Given the description of an element on the screen output the (x, y) to click on. 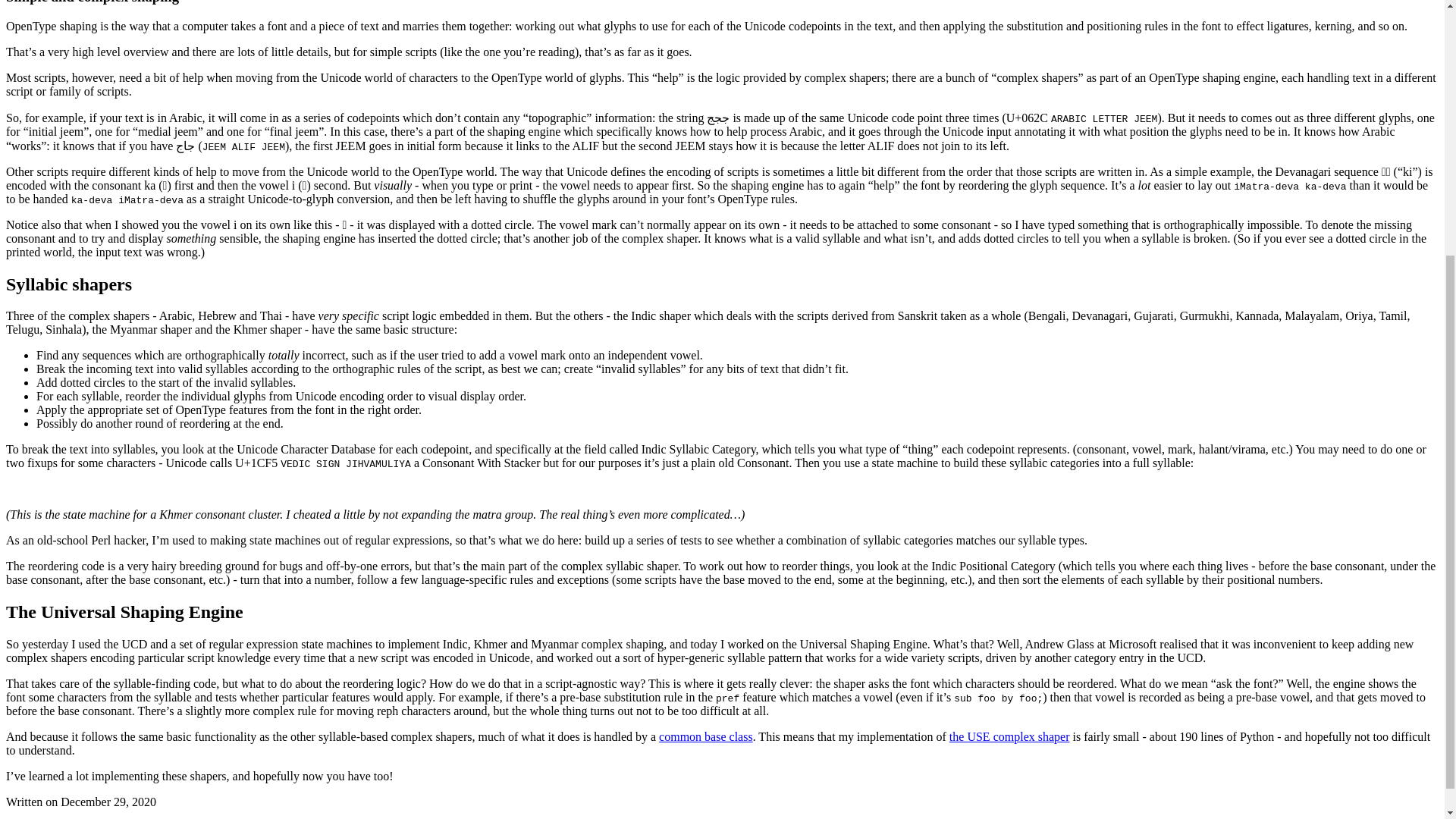
the USE complex shaper (1009, 736)
common base class (705, 736)
